Given the description of an element on the screen output the (x, y) to click on. 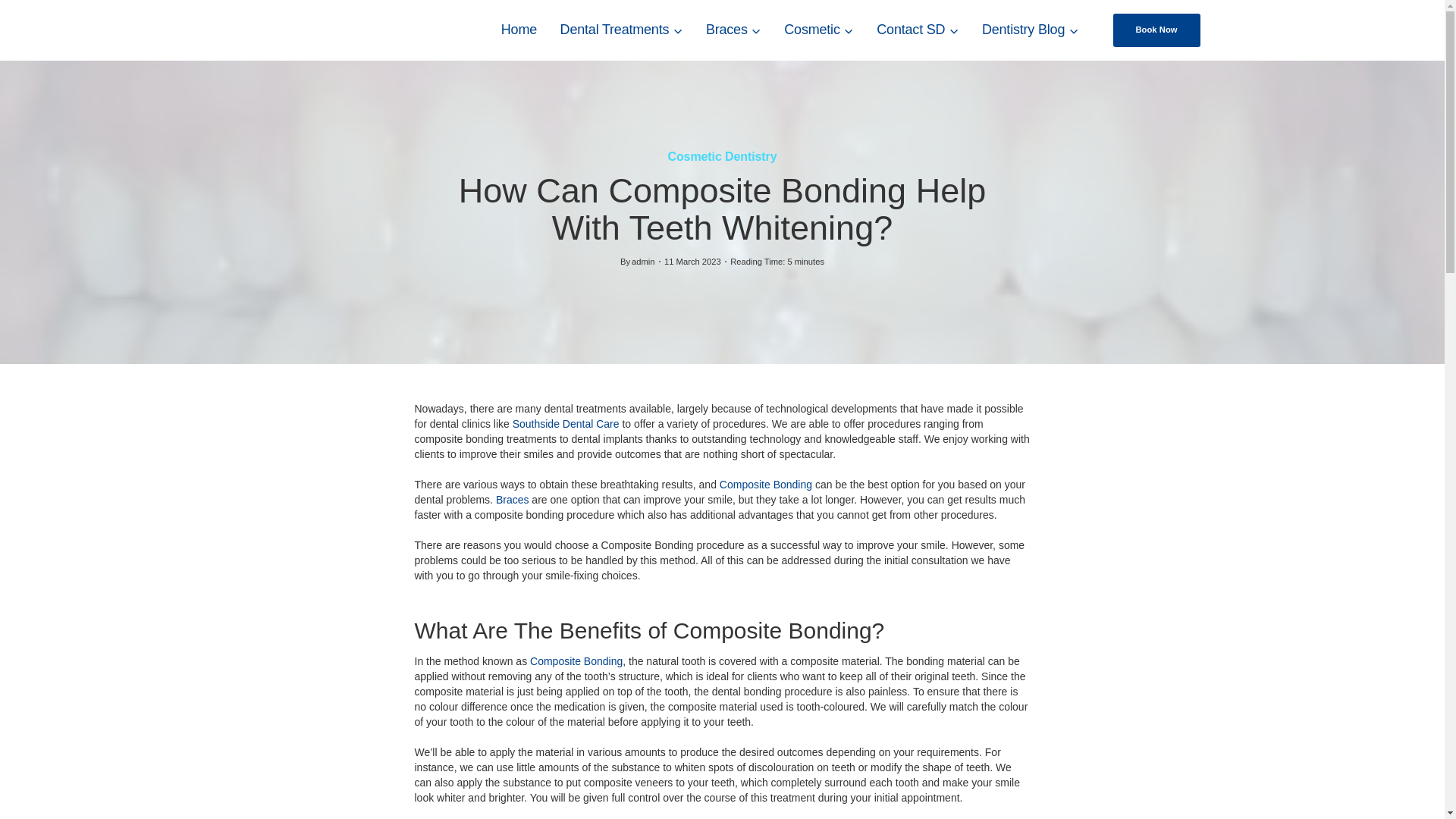
Dental Treatments (621, 30)
Home (518, 30)
Braces (733, 30)
Cosmetic (818, 30)
Contact SD (917, 30)
Dentistry Blog (1030, 30)
